Given the description of an element on the screen output the (x, y) to click on. 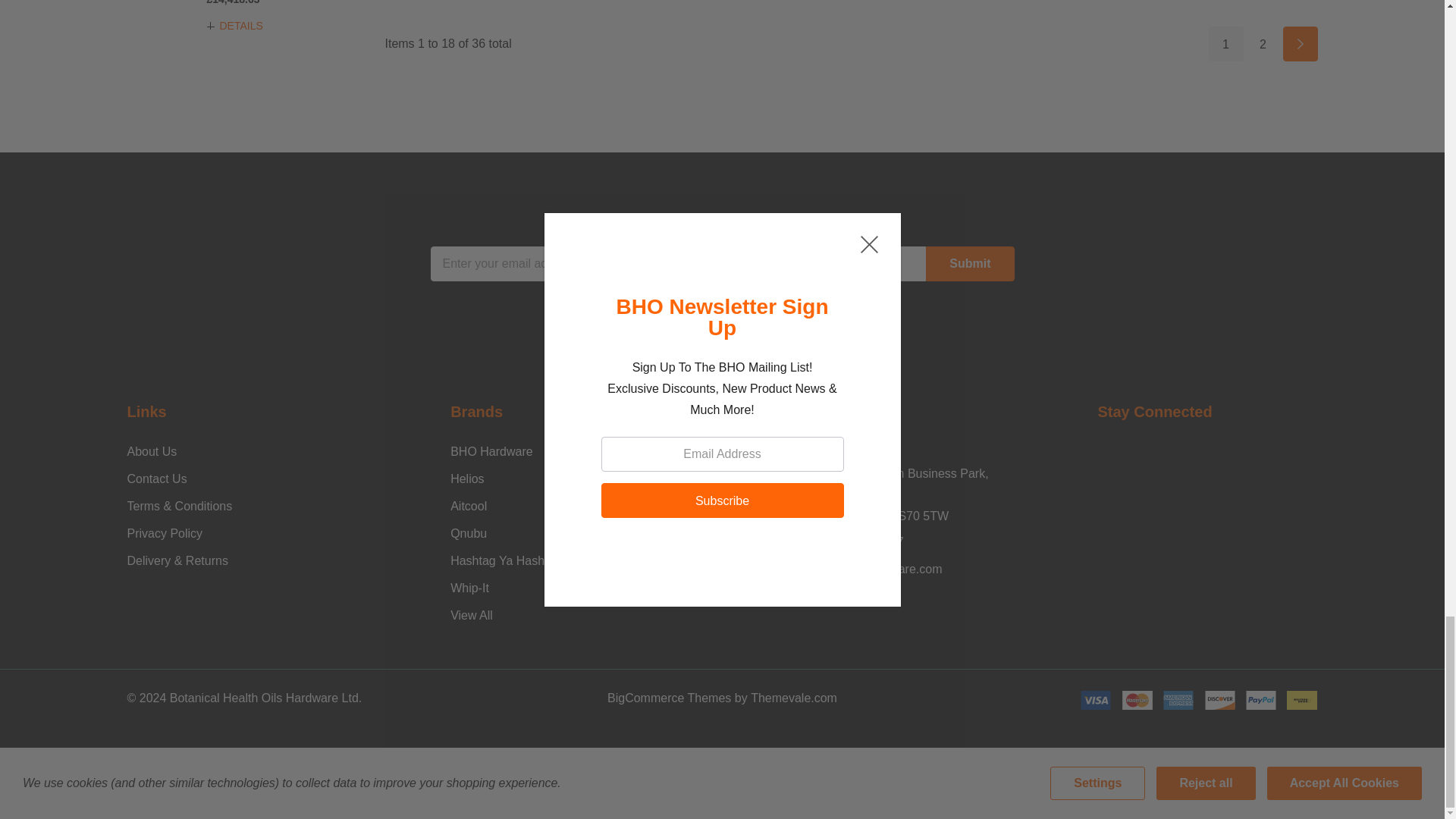
Submit (969, 263)
